Given the description of an element on the screen output the (x, y) to click on. 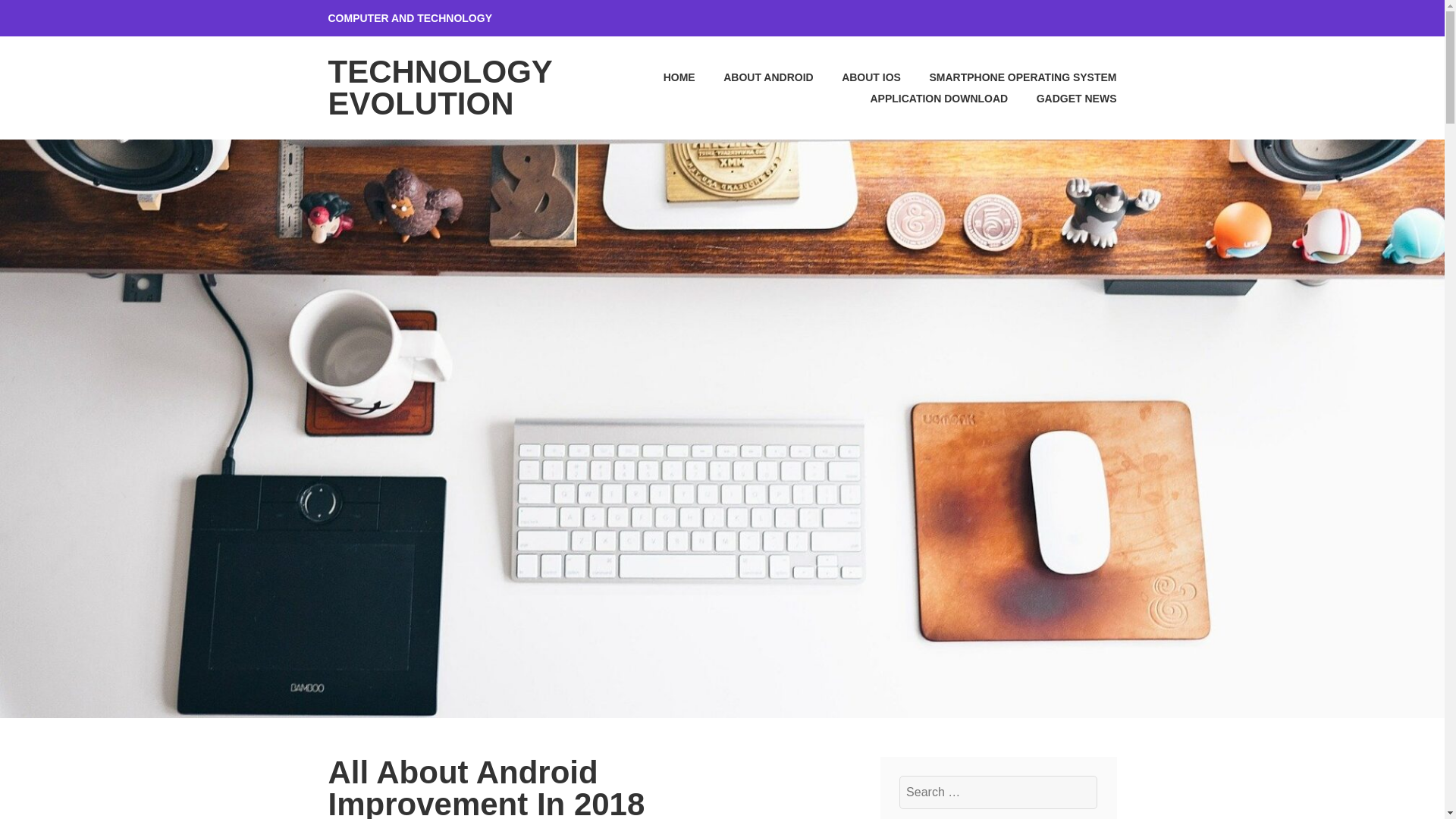
ABOUT ANDROID (755, 76)
TECHNOLOGY EVOLUTION (439, 87)
Search (48, 17)
APPLICATION DOWNLOAD (925, 97)
ABOUT IOS (858, 76)
SMARTPHONE OPERATING SYSTEM (1010, 76)
GADGET NEWS (1063, 97)
HOME (666, 76)
